Given the description of an element on the screen output the (x, y) to click on. 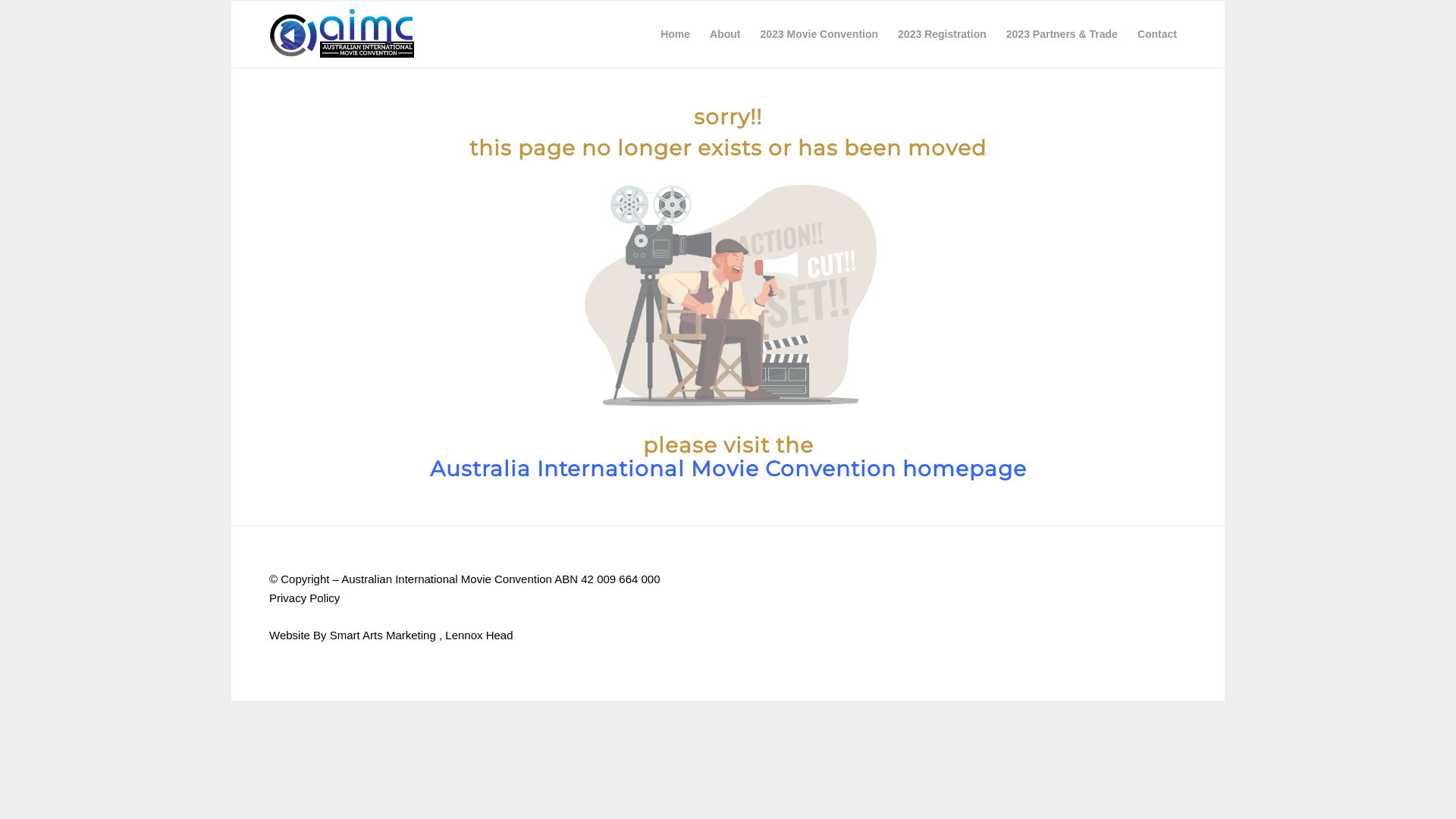
Home Element type: text (674, 33)
About Element type: text (724, 33)
Australia International Movie Convention homepage Element type: text (727, 468)
2023 Registration Element type: text (942, 33)
Contact Element type: text (1156, 33)
Privacy Policy Element type: text (304, 597)
2023 Partners & Trade Element type: text (1061, 33)
Smart Arts Marketing , Lennox Head Element type: text (421, 634)
2023 Movie Convention Element type: text (818, 33)
